Given the description of an element on the screen output the (x, y) to click on. 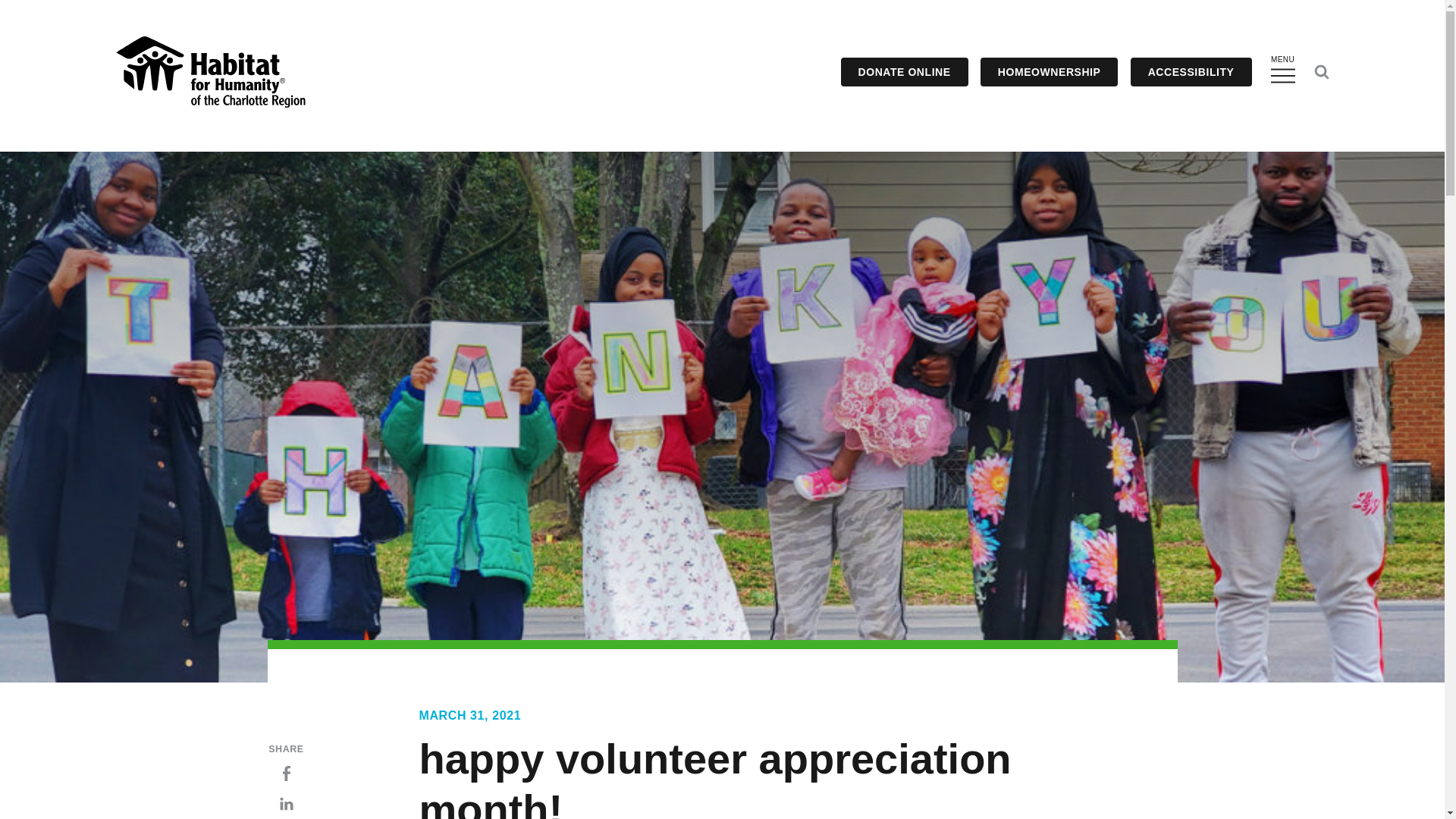
DONATE ONLINE (904, 71)
Habitat for Humanity of the Charlotte Region (209, 71)
ACCESSIBILITY (1191, 71)
HOMEOWNERSHIP (1048, 71)
